Given the description of an element on the screen output the (x, y) to click on. 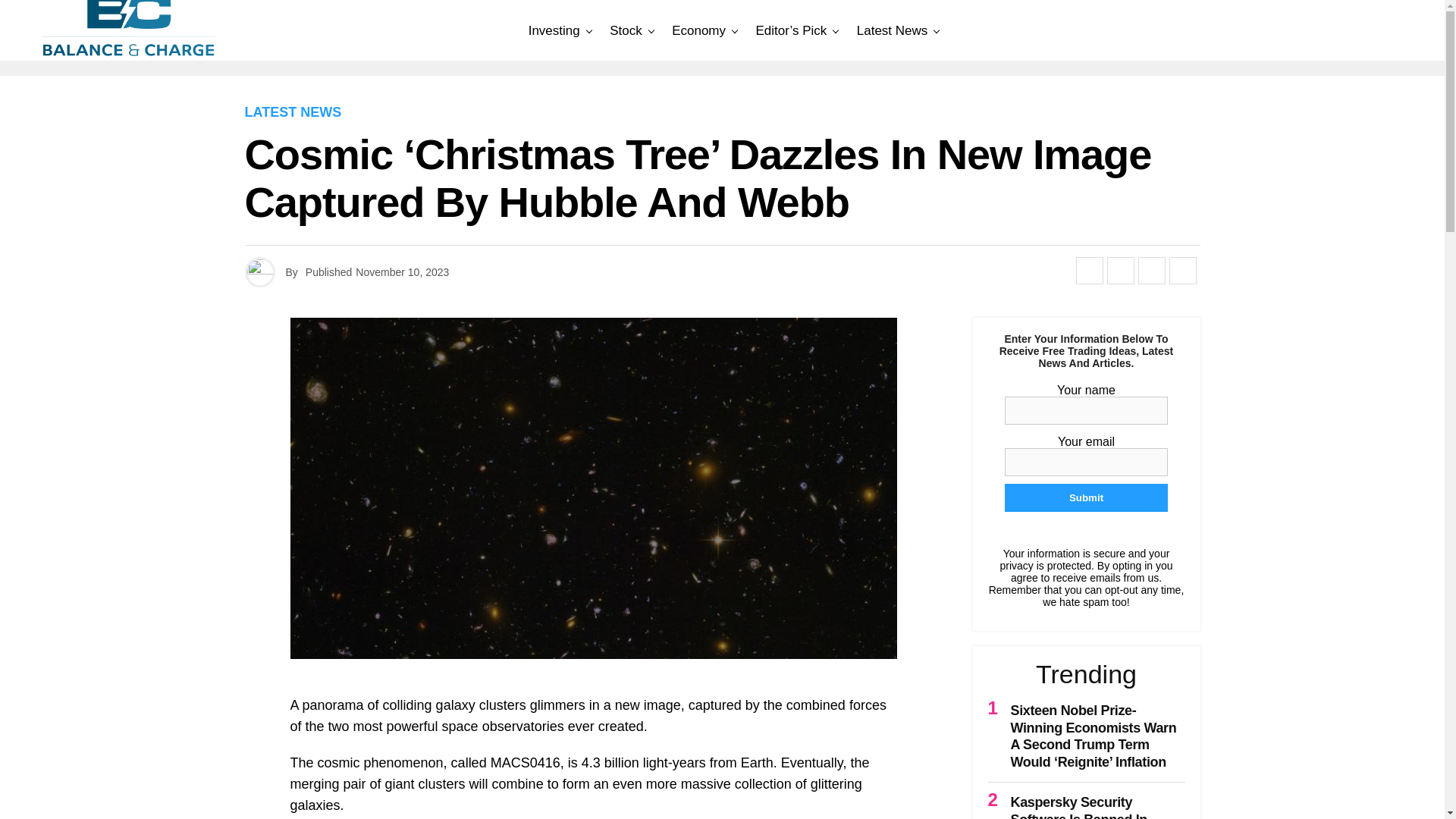
Share on Facebook (1088, 270)
Tweet This Post (1120, 270)
Submit (1085, 497)
LATEST NEWS (292, 112)
Investing (554, 30)
Economy (698, 30)
Latest News (892, 30)
